Given the description of an element on the screen output the (x, y) to click on. 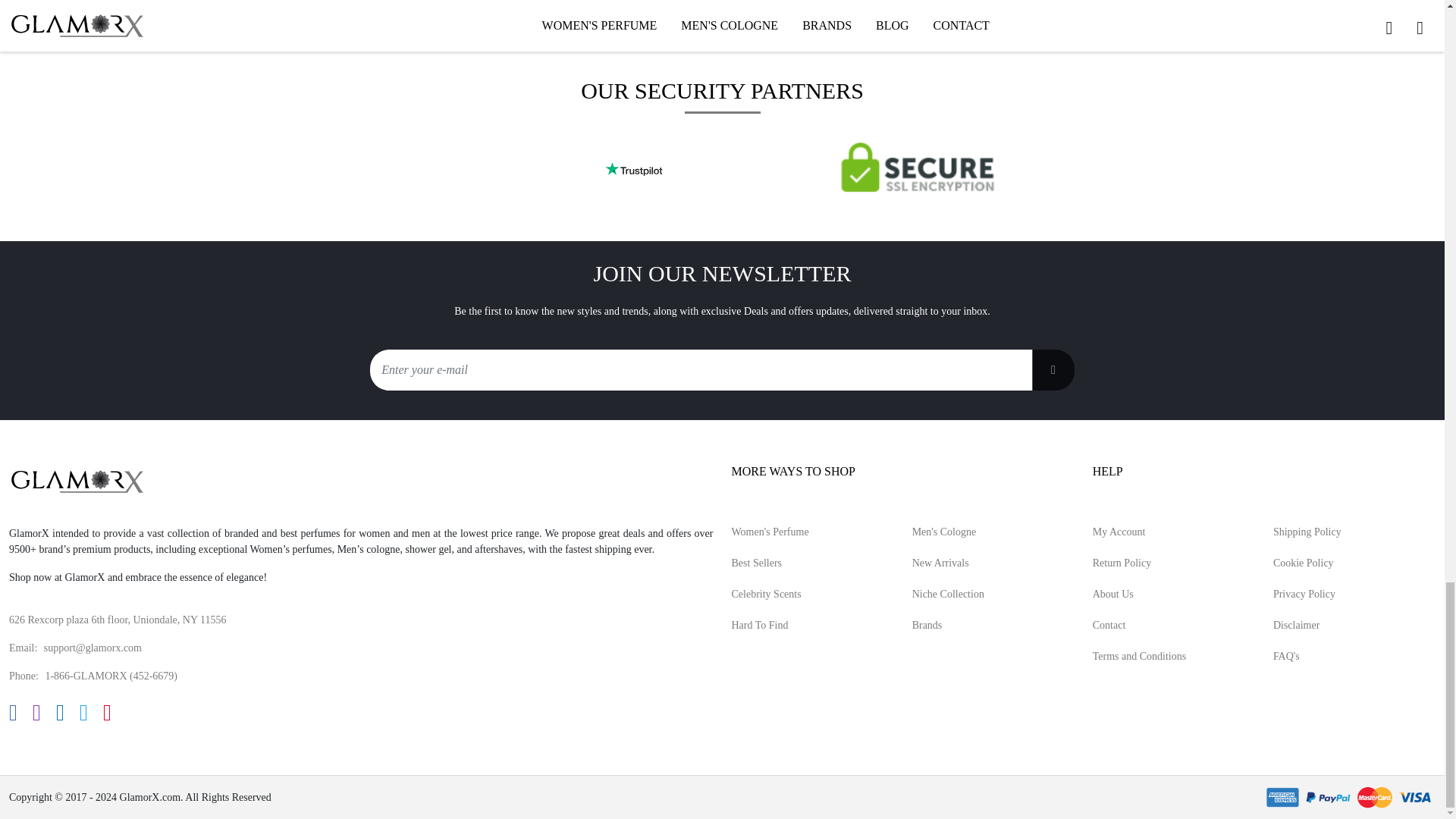
Customer reviews powered by Trustpilot (633, 169)
